Given the description of an element on the screen output the (x, y) to click on. 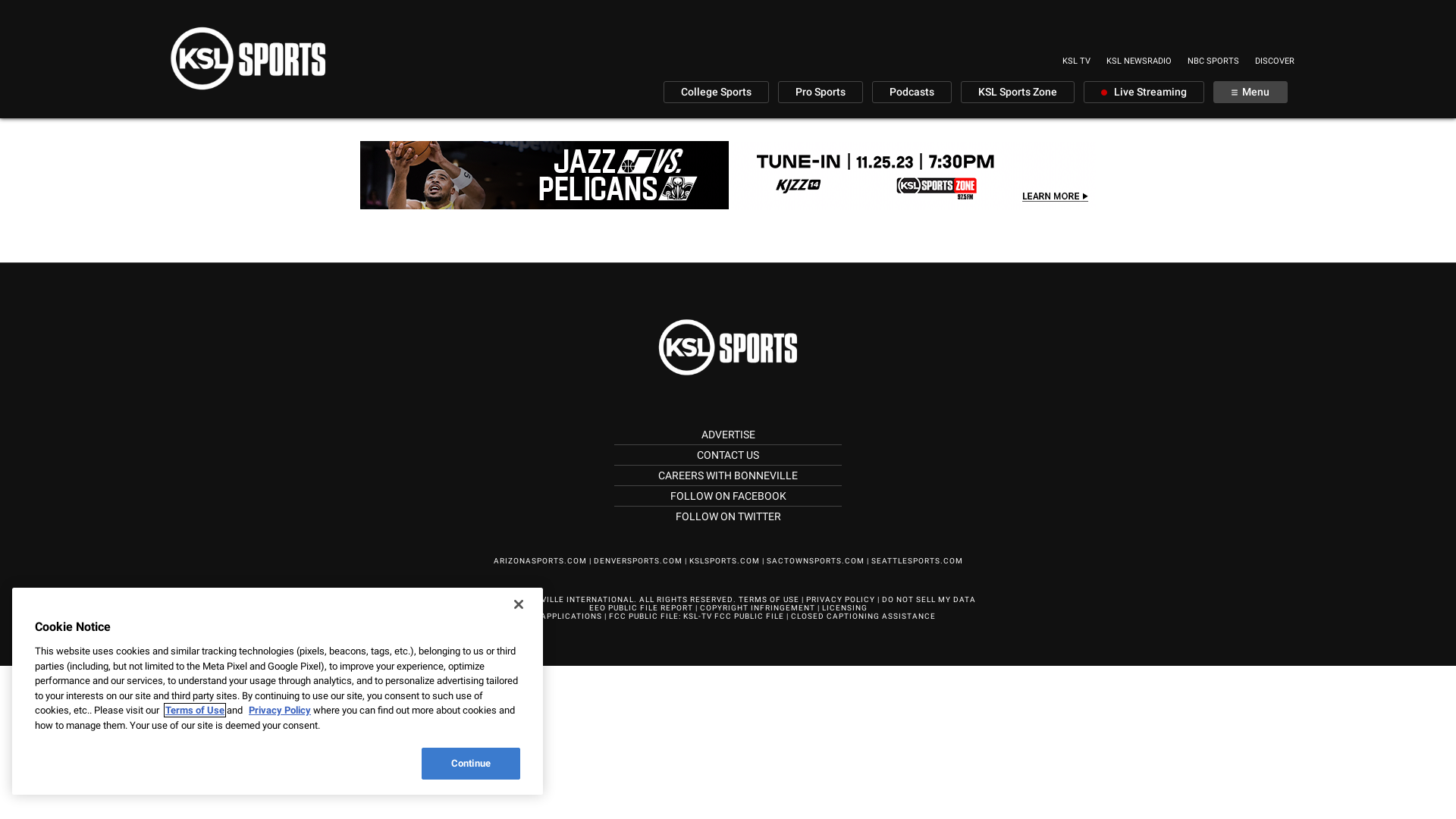
ARIZONASPORTS.COM Element type: text (539, 560)
KSL-TV FCC PUBLIC FILE Element type: text (732, 615)
EEO PUBLIC FILE REPORT Element type: text (640, 607)
SACTOWNSPORTS.COM Element type: text (814, 560)
KSL Sports Zone Element type: text (1017, 92)
DISCOVER Element type: text (1274, 60)
FOLLOW ON TWITTER Element type: text (727, 516)
CONTACT US Element type: text (727, 454)
3rd party ad content Element type: hover (727, 175)
College Sports Element type: text (715, 92)
FCC APPLICATIONS Element type: text (560, 615)
Privacy Policy Element type: text (279, 709)
TERMS OF USE Element type: text (768, 599)
Continue Element type: text (470, 763)
KSL TV Element type: text (1076, 60)
CLOSED CAPTIONING ASSISTANCE Element type: text (862, 615)
LICENSING Element type: text (844, 607)
DO NOT SELL MY DATA Element type: text (928, 599)
NBC SPORTS Element type: text (1213, 60)
FOLLOW ON FACEBOOK Element type: text (728, 495)
Pro Sports Element type: text (820, 92)
CAREERS WITH BONNEVILLE Element type: text (727, 475)
DENVERSPORTS.COM Element type: text (637, 560)
PRIVACY POLICY Element type: text (840, 599)
COPYRIGHT INFRINGEMENT Element type: text (756, 607)
Podcasts Element type: text (911, 92)
KSLSPORTS.COM Element type: text (723, 560)
 Live Streaming Element type: text (1143, 92)
Terms of Use Element type: text (194, 709)
ADVERTISE Element type: text (727, 434)
SEATTLESPORTS.COM Element type: text (916, 560)
KSL NEWSRADIO Element type: text (1138, 60)
